Given the description of an element on the screen output the (x, y) to click on. 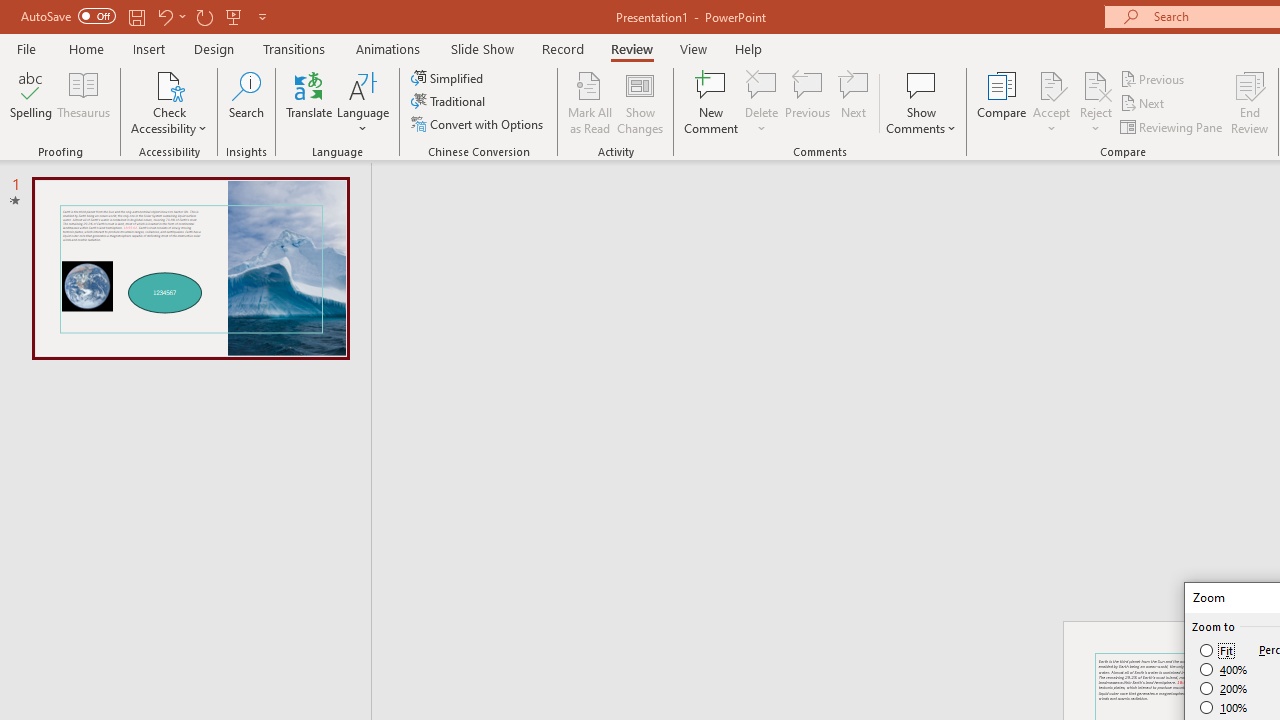
Mark All as Read (589, 102)
Delete (762, 84)
Spelling... (31, 102)
Show Comments (921, 102)
Compare (1002, 102)
Check Accessibility (169, 84)
Check Accessibility (169, 102)
Next (1144, 103)
